Given the description of an element on the screen output the (x, y) to click on. 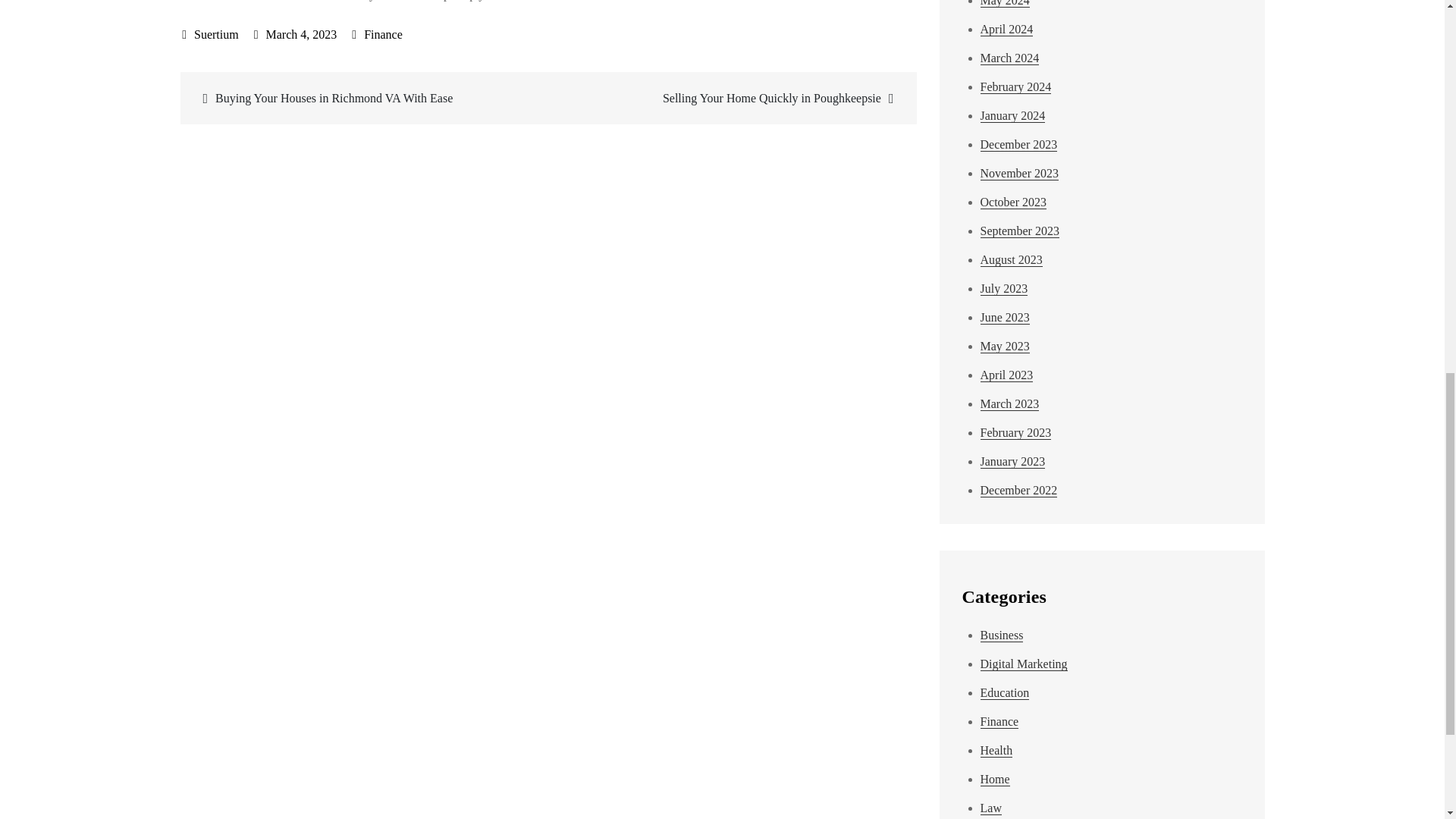
May 2024 (1004, 3)
April 2023 (1005, 375)
Finance (383, 33)
Selling Your Home Quickly in Poughkeepsie (730, 97)
March 4, 2023 (295, 33)
October 2023 (1012, 202)
May 2023 (1004, 345)
July 2023 (1003, 288)
March 2024 (1009, 58)
February 2024 (1015, 87)
